Given the description of an element on the screen output the (x, y) to click on. 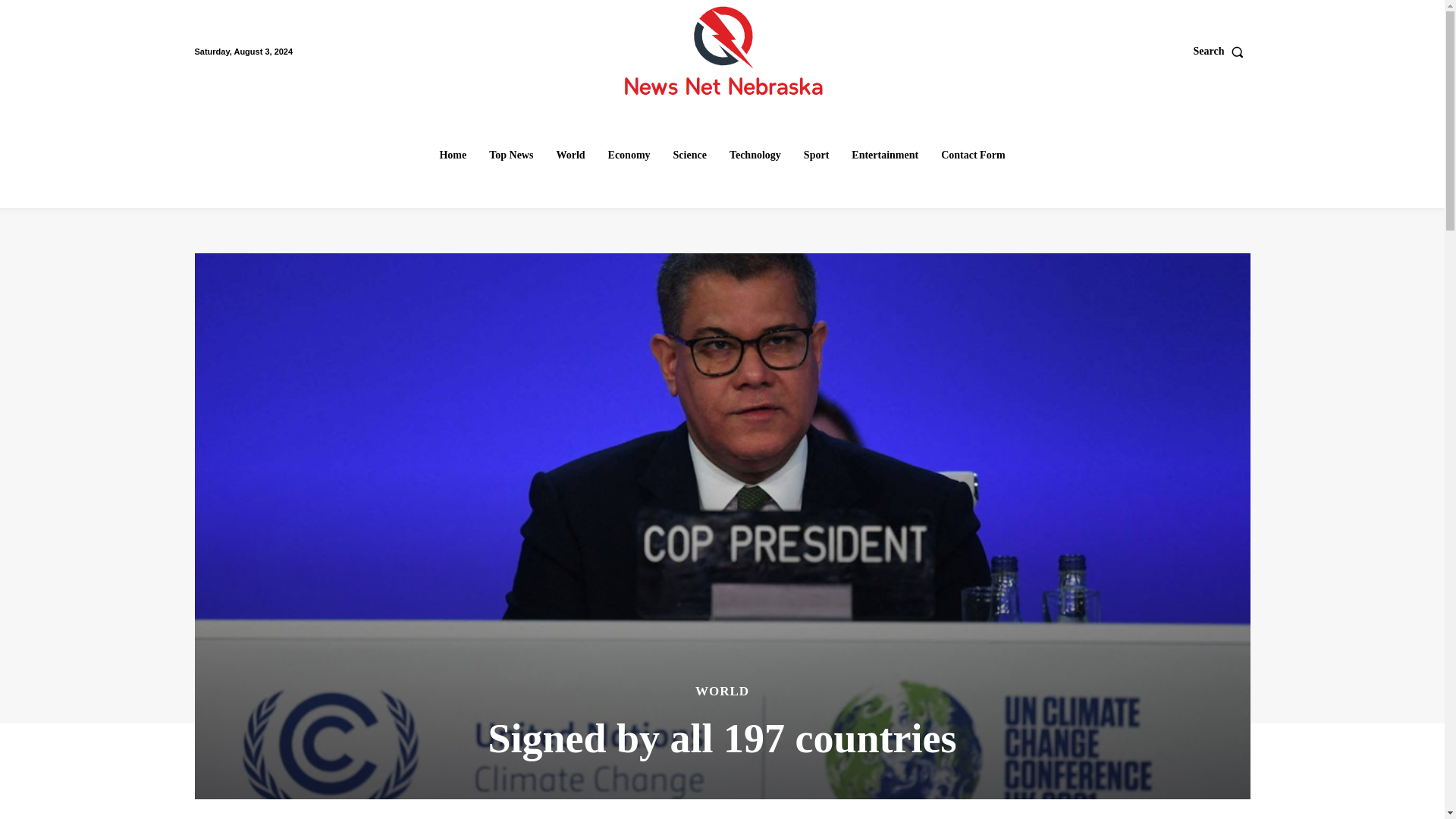
Technology (755, 155)
Science (689, 155)
Economy (628, 155)
Home (452, 155)
World (570, 155)
Entertainment (885, 155)
WORLD (722, 690)
Contact Form (972, 155)
Search (1221, 51)
Sport (815, 155)
Top News (510, 155)
